Given the description of an element on the screen output the (x, y) to click on. 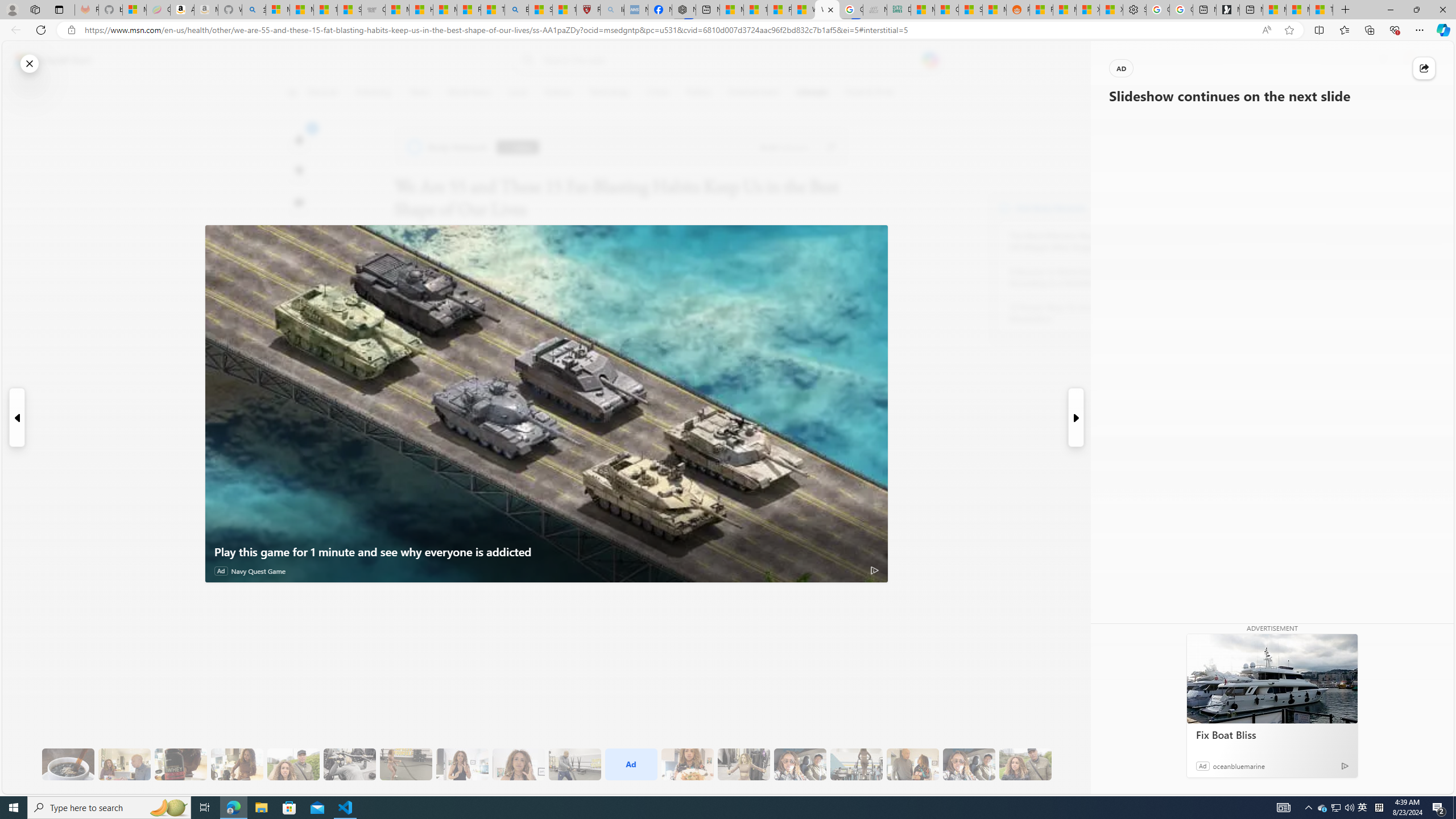
18 It's More Fun Doing It with Someone Else (912, 764)
19 It Also Simplifies Thiings (968, 764)
Class: at-item (299, 266)
Fix Boat Bliss (1271, 678)
20 Overall, It Will Improve Your Health (1024, 764)
Play this game for 1 minute and see why everyone is addicted (546, 551)
